Given the description of an element on the screen output the (x, y) to click on. 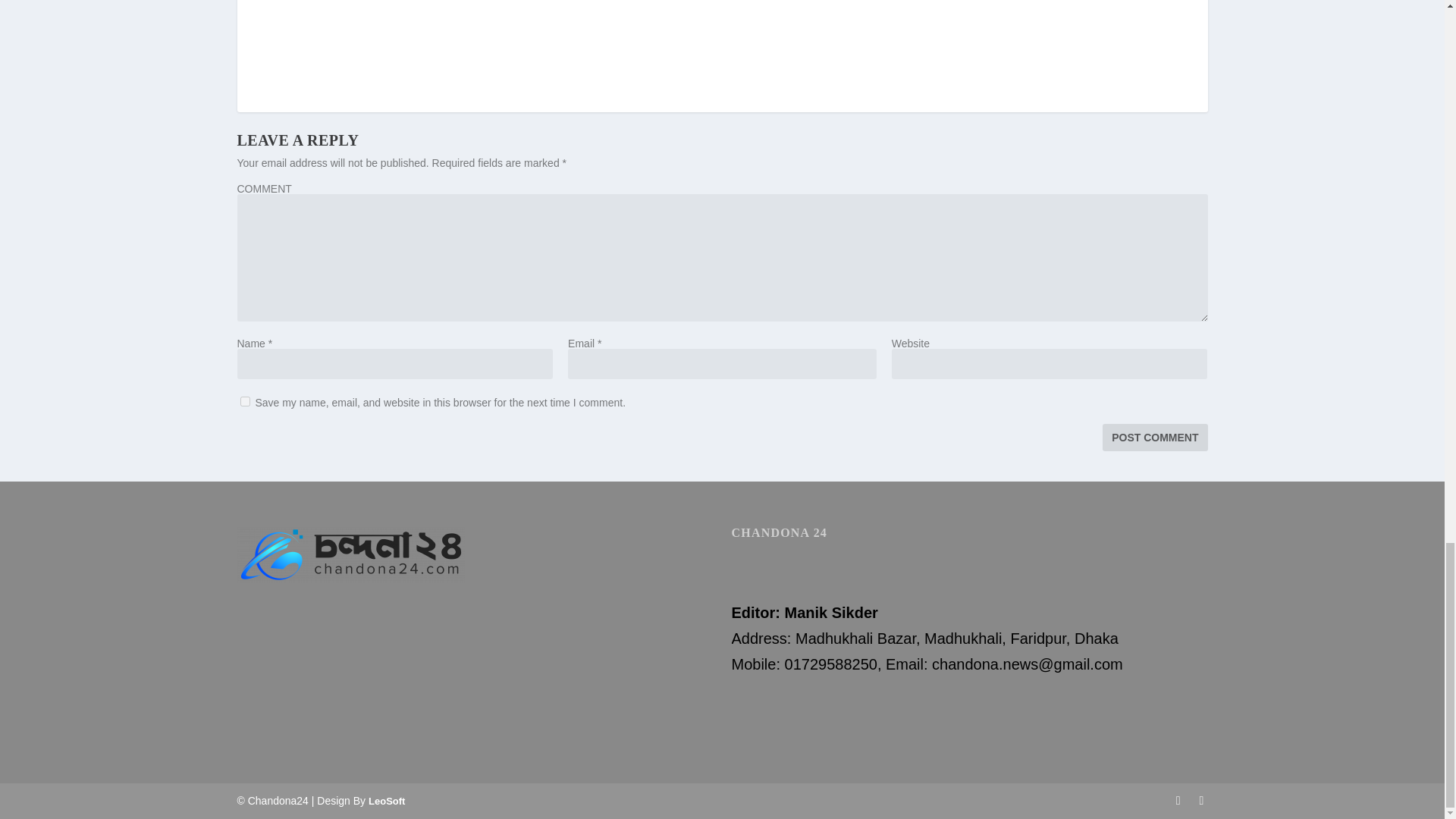
yes (244, 401)
Post Comment (1154, 437)
